Given the description of an element on the screen output the (x, y) to click on. 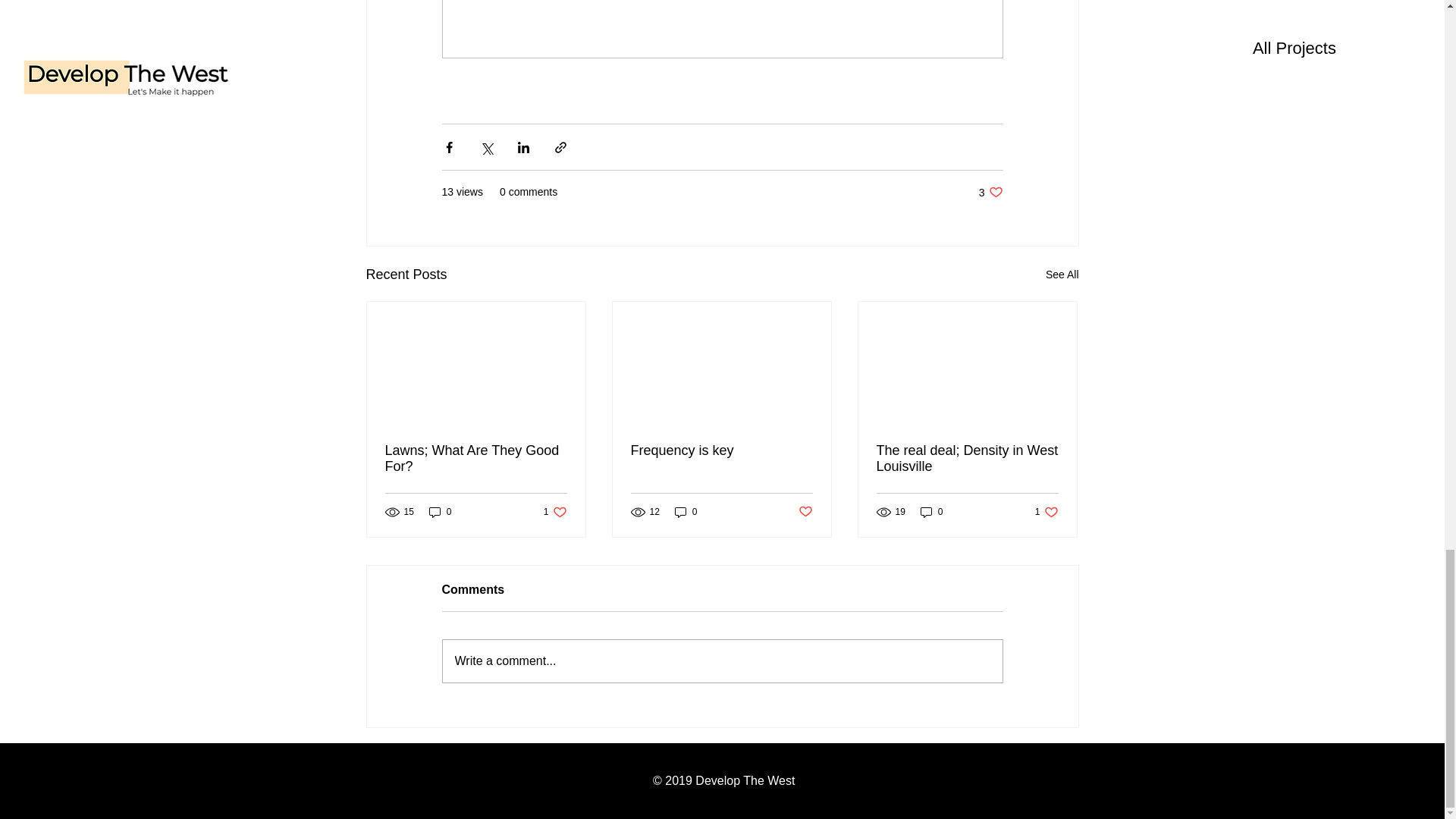
0 (931, 511)
Lawns; What Are They Good For? (476, 459)
0 (440, 511)
See All (1061, 274)
0 (555, 511)
Write a comment... (990, 192)
The real deal; Density in West Louisville (685, 511)
Frequency is key (722, 660)
Post not marked as liked (967, 459)
